Given the description of an element on the screen output the (x, y) to click on. 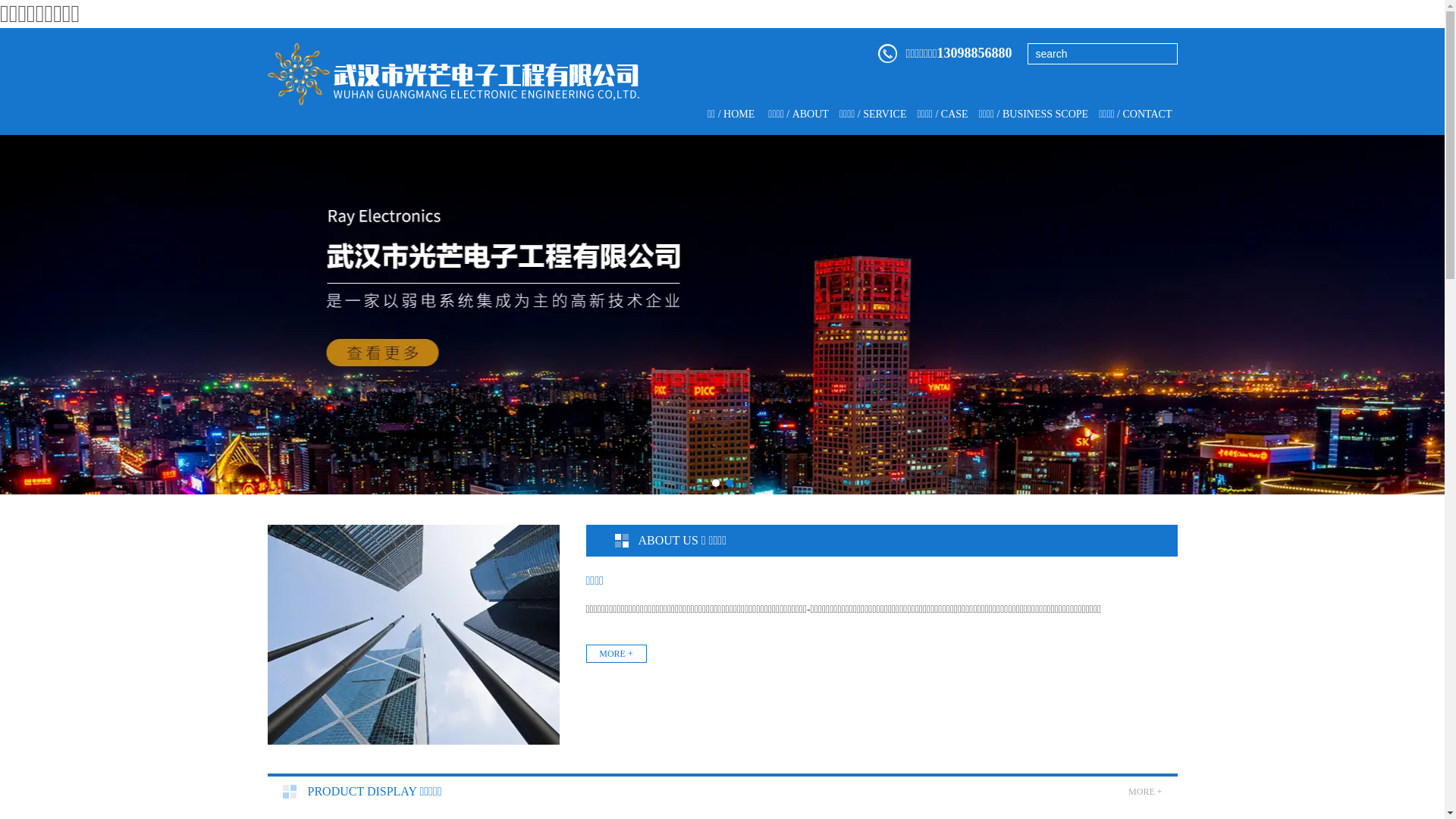
MORE + Element type: text (615, 653)
MORE + Element type: text (1144, 791)
